Given the description of an element on the screen output the (x, y) to click on. 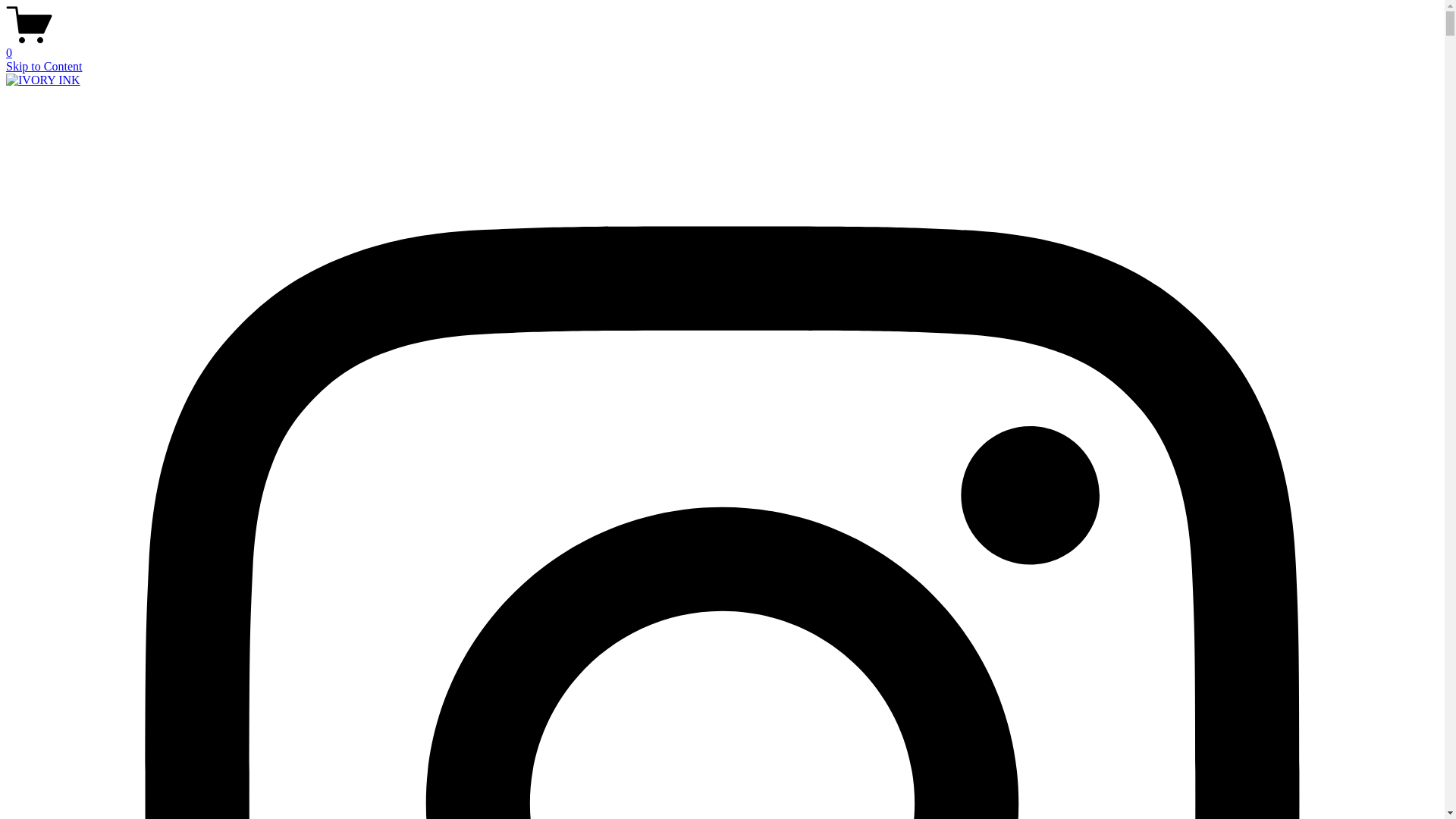
Skip to Content Element type: text (43, 65)
0 Element type: text (722, 45)
